Given the description of an element on the screen output the (x, y) to click on. 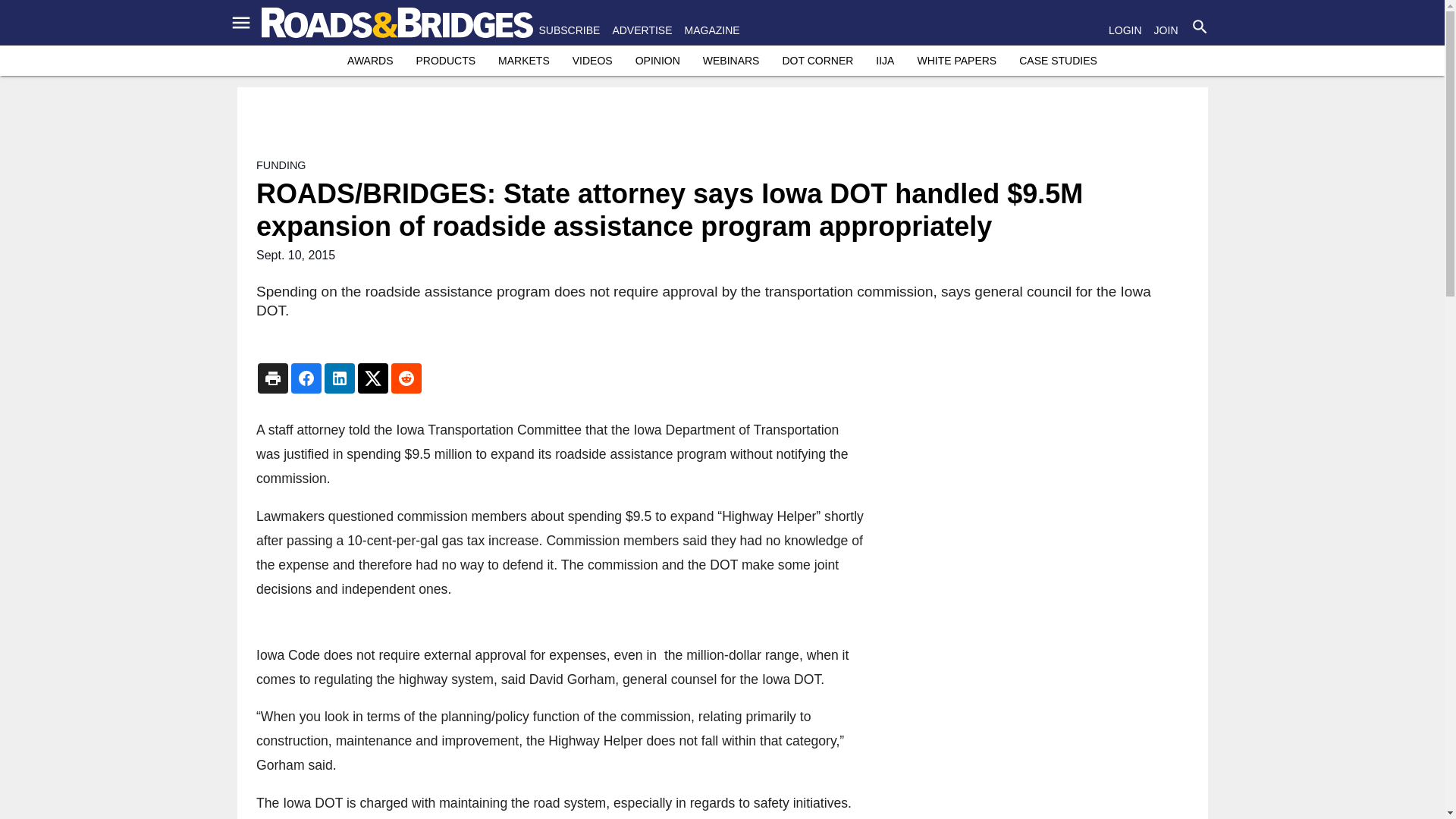
SUBSCRIBE (568, 30)
ADVERTISE (641, 30)
VIDEOS (592, 60)
IIJA (884, 60)
MAGAZINE (711, 30)
DOT CORNER (817, 60)
PRODUCTS (445, 60)
AWARDS (370, 60)
WHITE PAPERS (956, 60)
MARKETS (523, 60)
JOIN (1165, 30)
CASE STUDIES (1058, 60)
WEBINARS (731, 60)
LOGIN (1124, 30)
OPINION (656, 60)
